Given the description of an element on the screen output the (x, y) to click on. 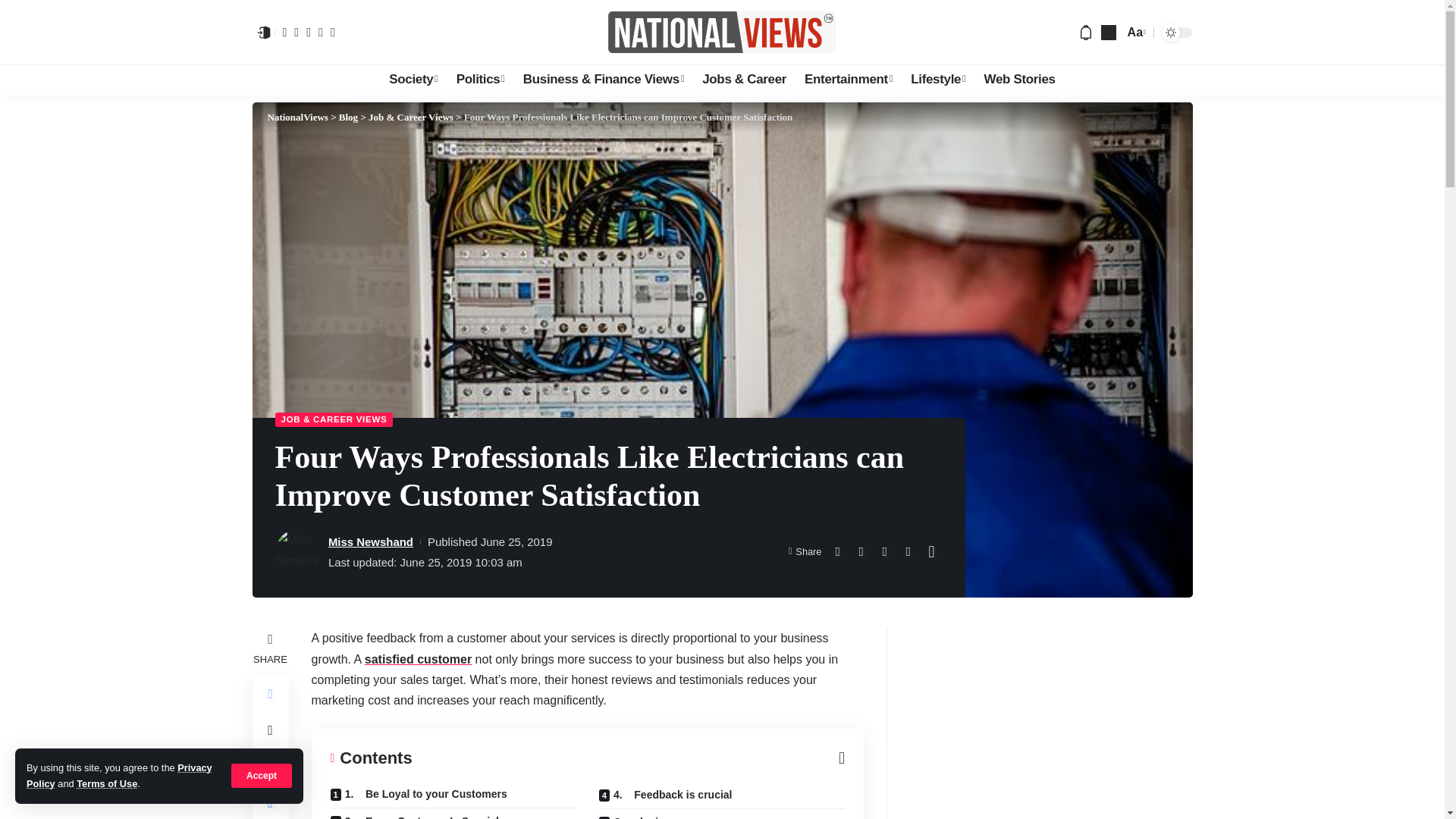
Terms of Use (106, 783)
Lifestyle (937, 79)
Go to NationalViews. (296, 116)
Accept (261, 775)
Aa (1135, 32)
Go to Blog. (348, 116)
Privacy Policy (119, 775)
NationalViews (721, 32)
Society (413, 79)
Politics (479, 79)
Entertainment (847, 79)
